Given the description of an element on the screen output the (x, y) to click on. 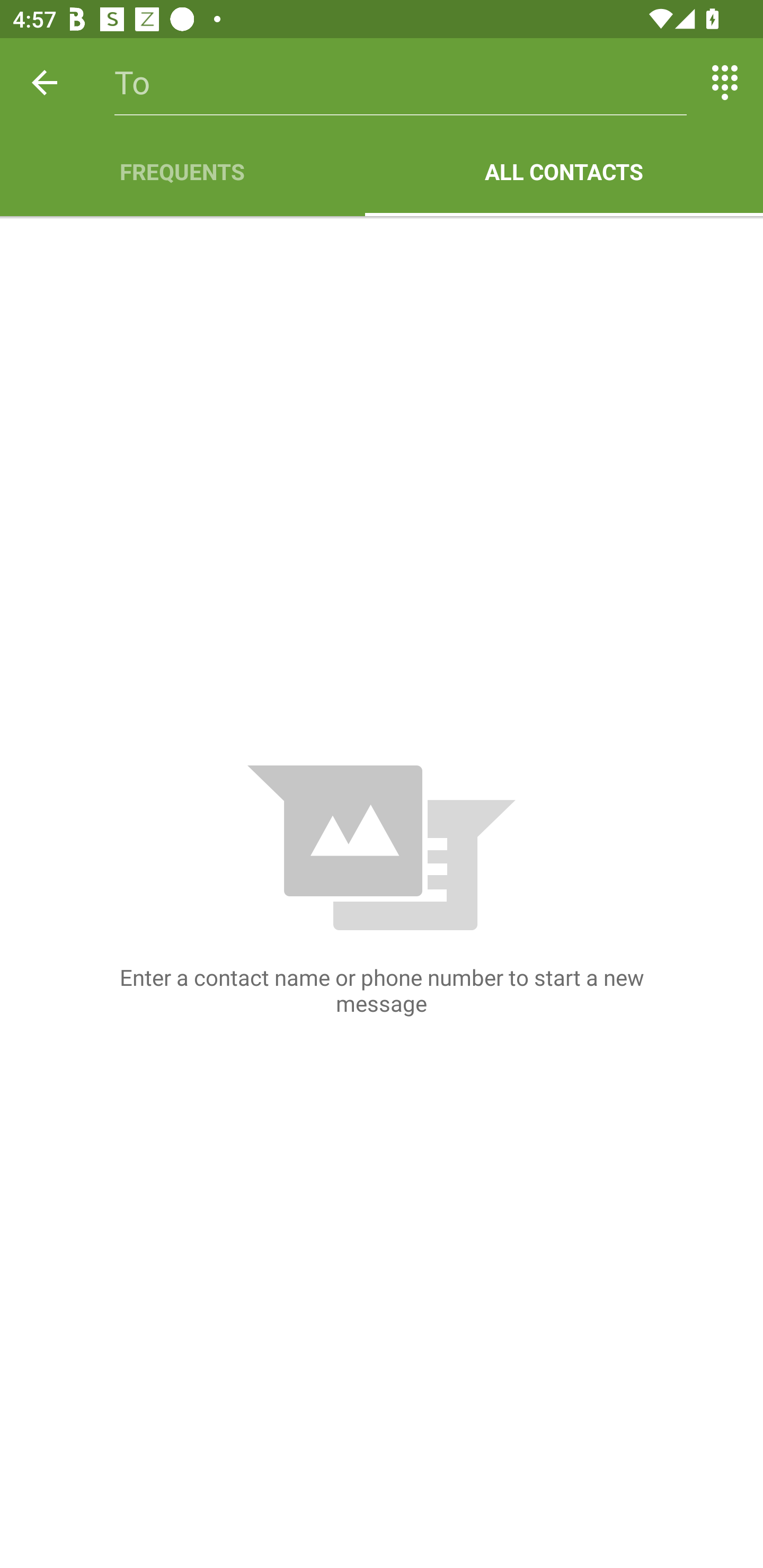
Back (44, 82)
Switch between entering text and numbers (724, 81)
To (400, 82)
FREQUENTS (182, 171)
ALL CONTACTS (563, 171)
